Given the description of an element on the screen output the (x, y) to click on. 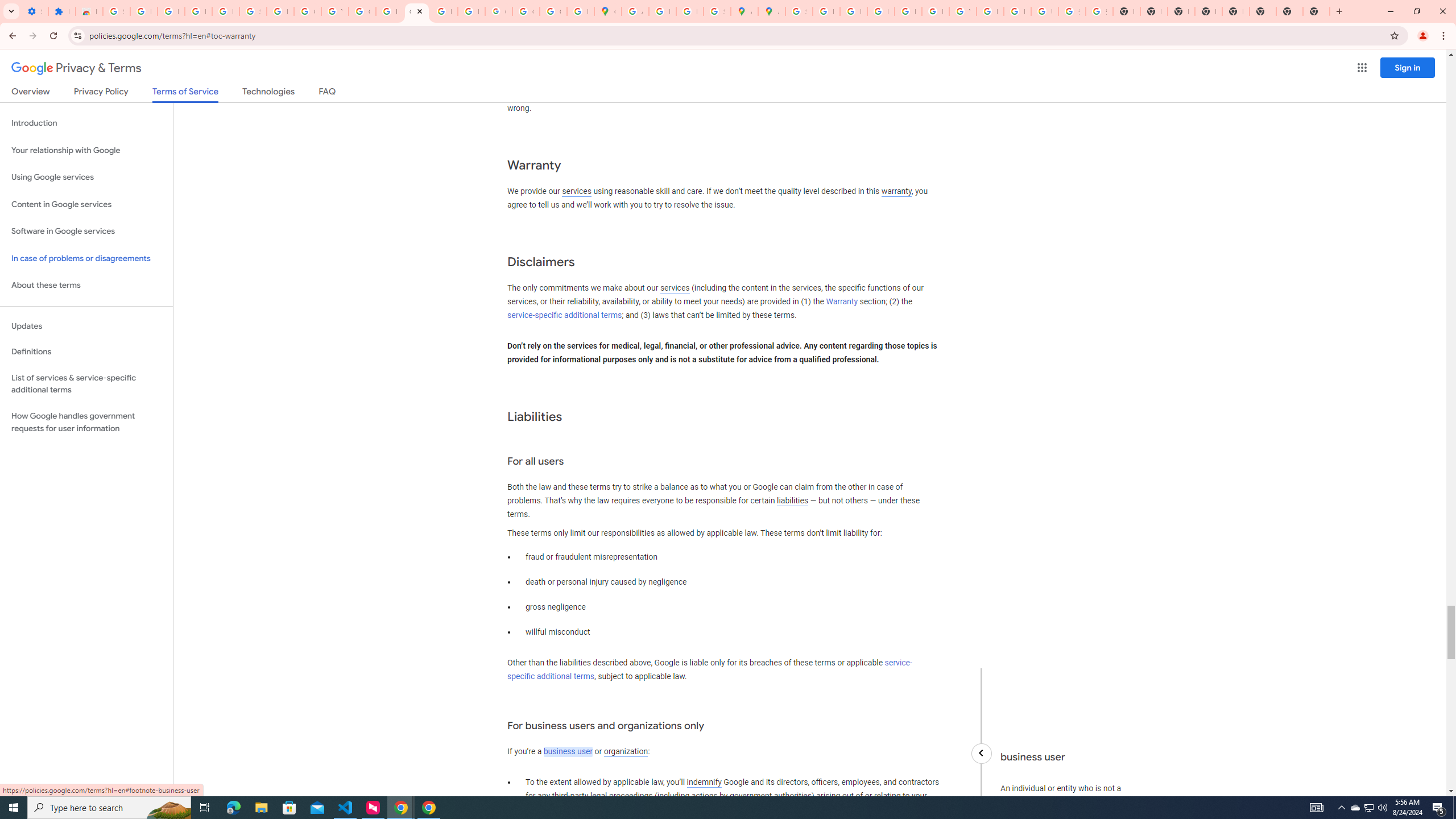
Google Account (307, 11)
New Tab (1236, 11)
Google Maps (607, 11)
indemnify (703, 782)
Definitions (86, 352)
